Given the description of an element on the screen output the (x, y) to click on. 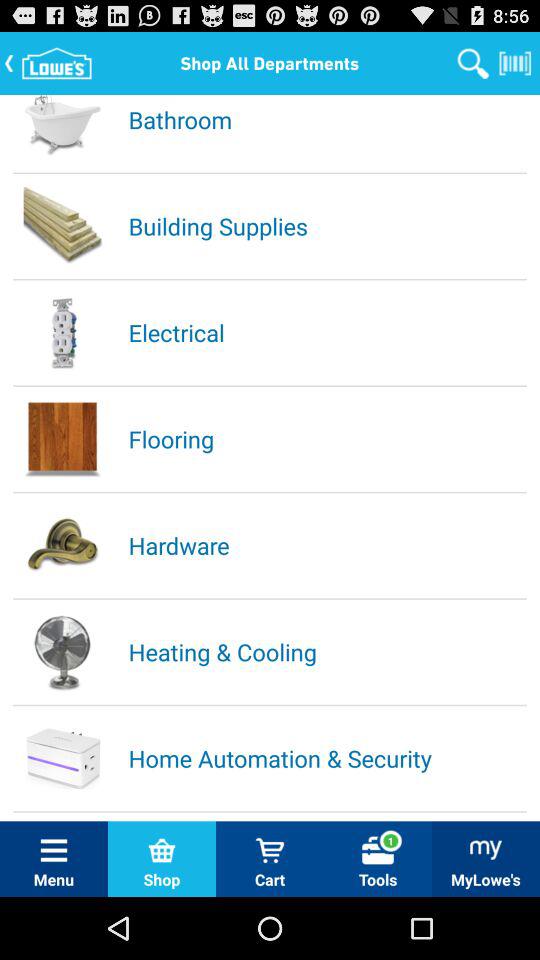
flip to the electrical (326, 332)
